Given the description of an element on the screen output the (x, y) to click on. 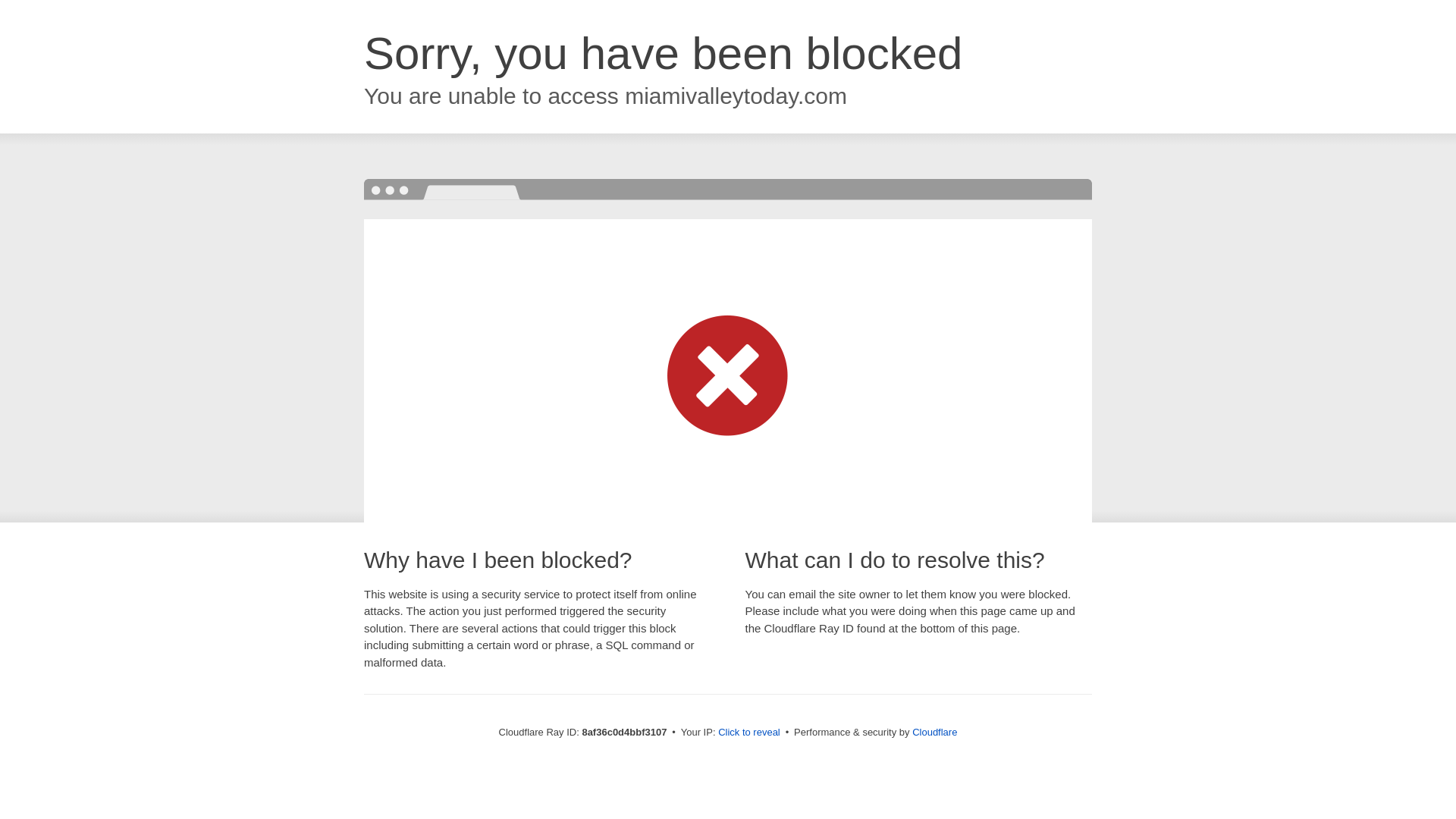
Cloudflare (934, 731)
Click to reveal (748, 732)
